Given the description of an element on the screen output the (x, y) to click on. 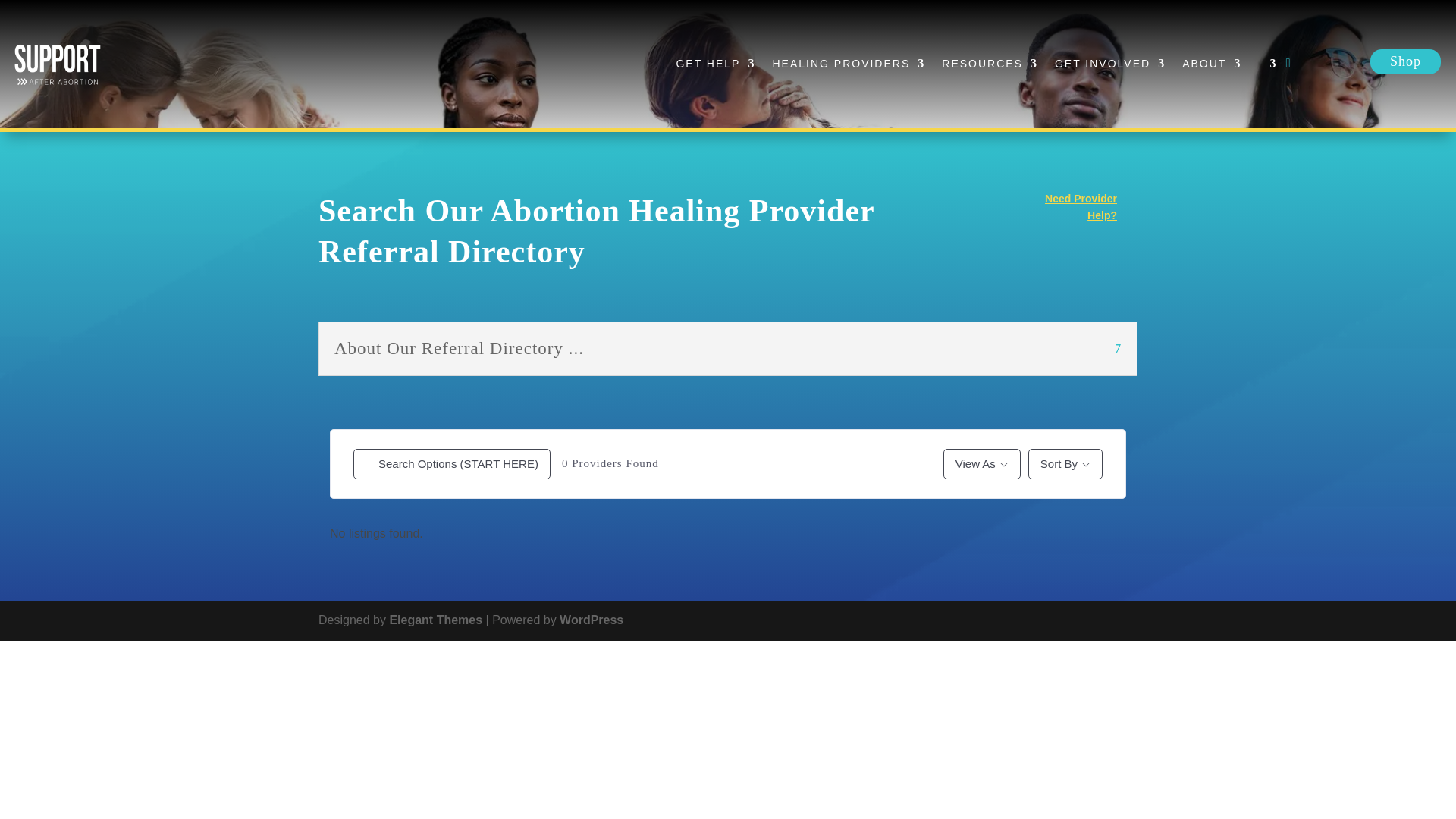
HEALING PROVIDERS (847, 64)
Premium WordPress Themes (434, 619)
GET HELP (715, 64)
ABOUT (1211, 64)
GET INVOLVED (1110, 64)
RESOURCES (990, 64)
